Given the description of an element on the screen output the (x, y) to click on. 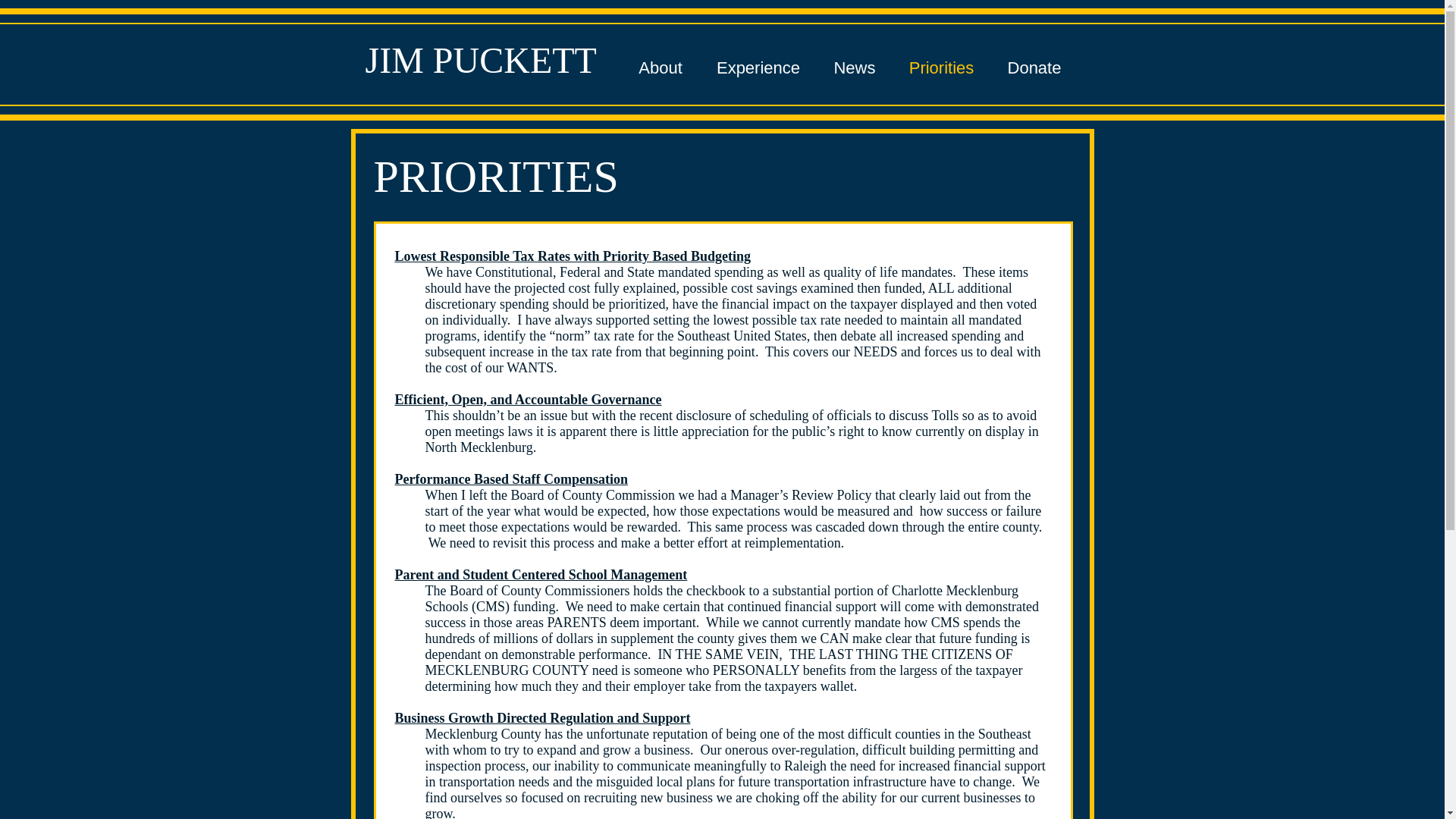
About (660, 67)
News (854, 67)
Donate (1033, 67)
Experience (757, 67)
Priorities (940, 67)
JIM PUCKETT (480, 60)
